Given the description of an element on the screen output the (x, y) to click on. 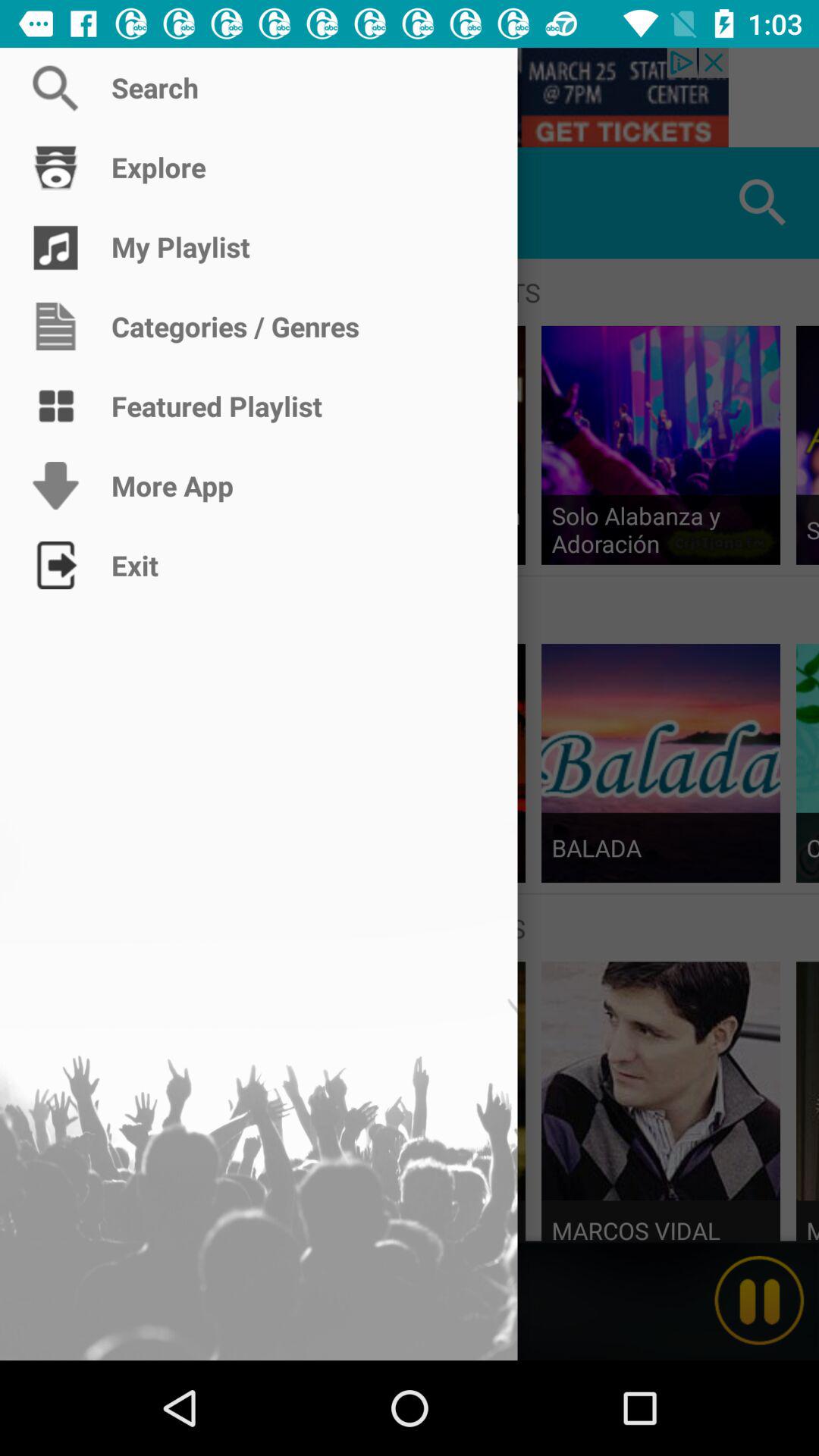
stop and play (759, 1300)
